Given the description of an element on the screen output the (x, y) to click on. 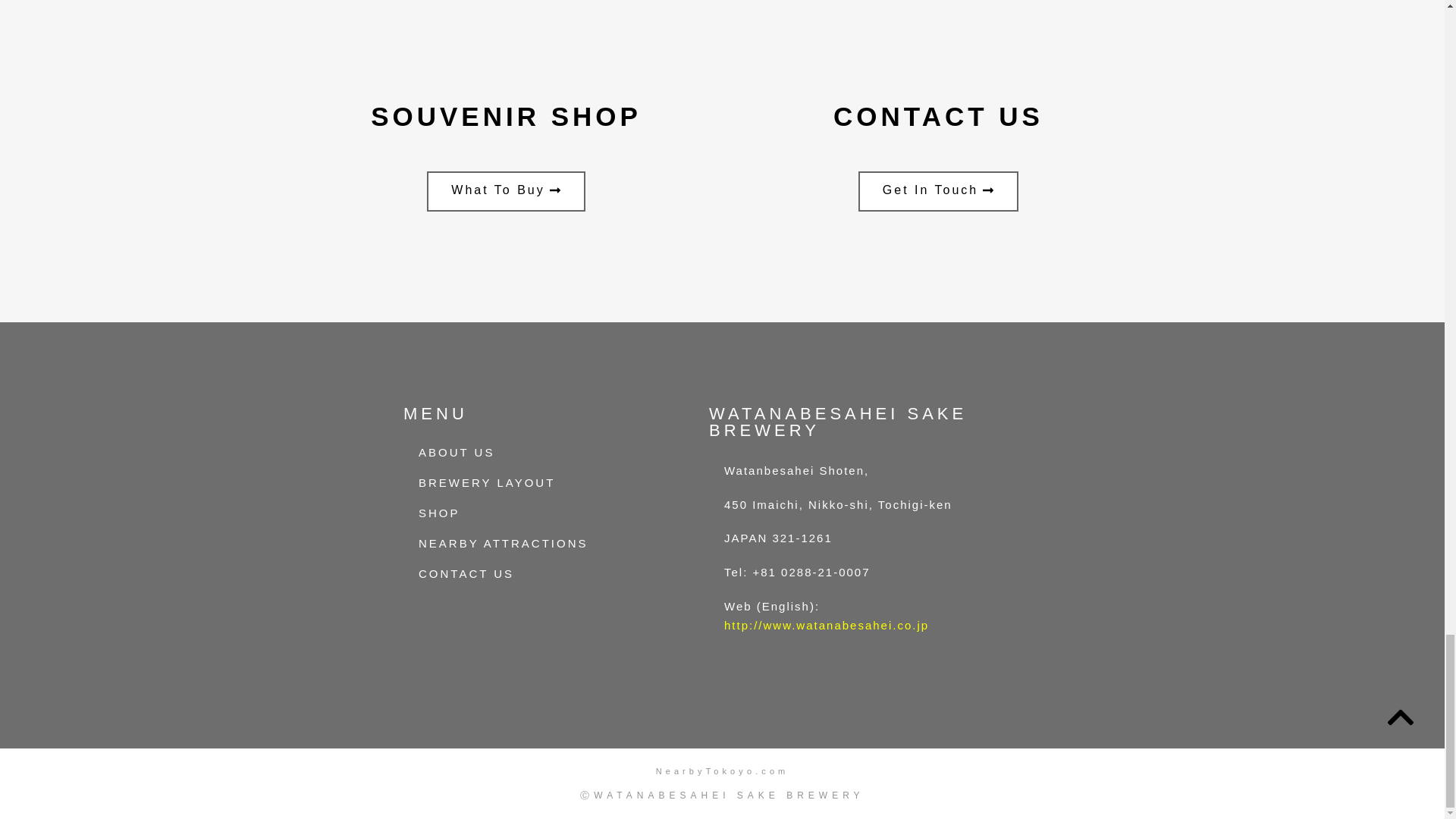
Get In Touch (938, 191)
NEARBY ATTRACTIONS (518, 543)
What To Buy (505, 191)
WATANABESAHEI SAKE BREWERY (837, 421)
ABOUT US (518, 452)
NearbyTokoyo.com (722, 770)
SHOP (518, 512)
CONTACT US (518, 573)
BREWERY LAYOUT (518, 482)
